Given the description of an element on the screen output the (x, y) to click on. 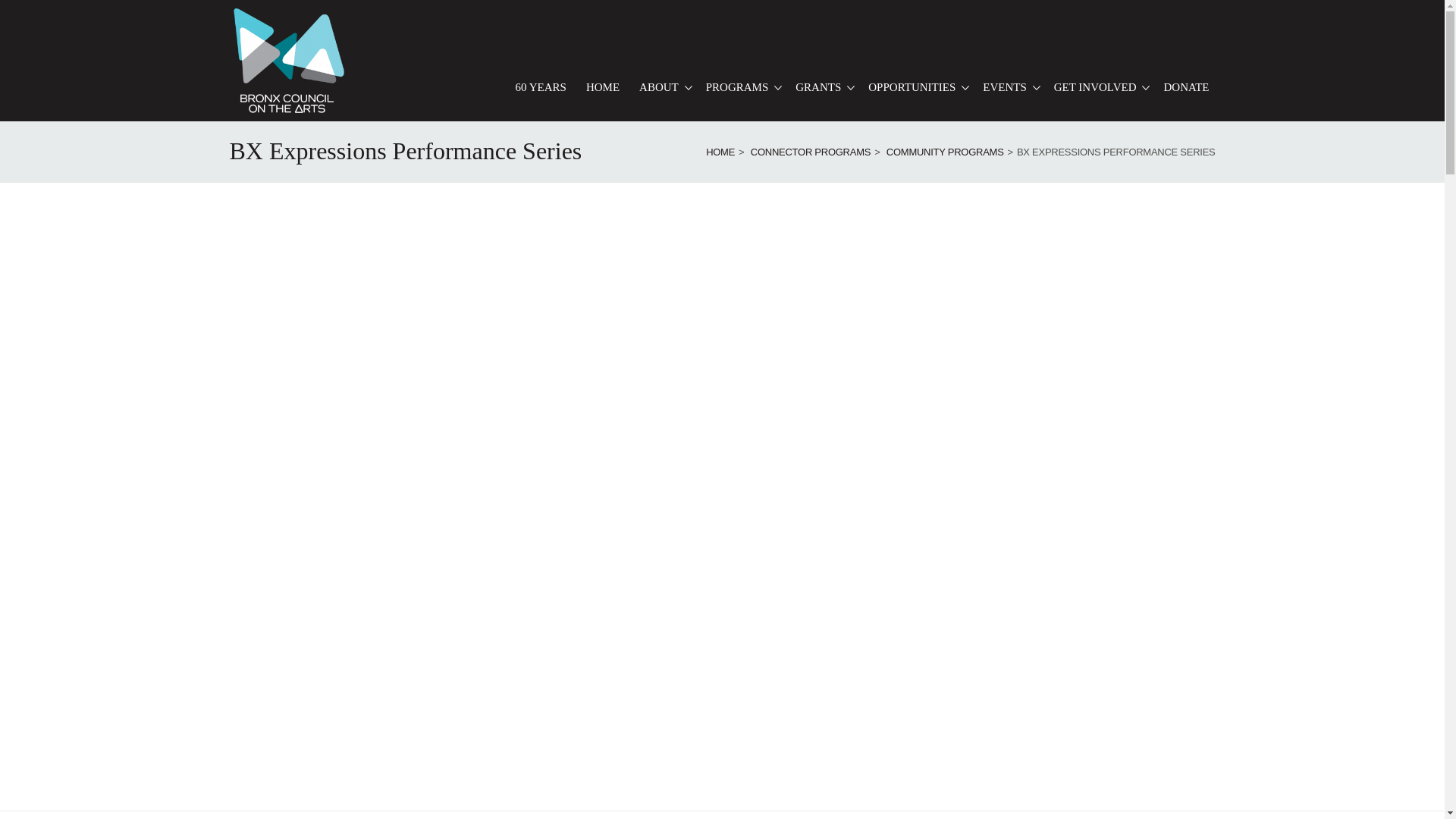
GRANTS (821, 87)
OPPORTUNITIES (915, 87)
PROGRAMS (741, 87)
60 YEARS (540, 87)
